Given the description of an element on the screen output the (x, y) to click on. 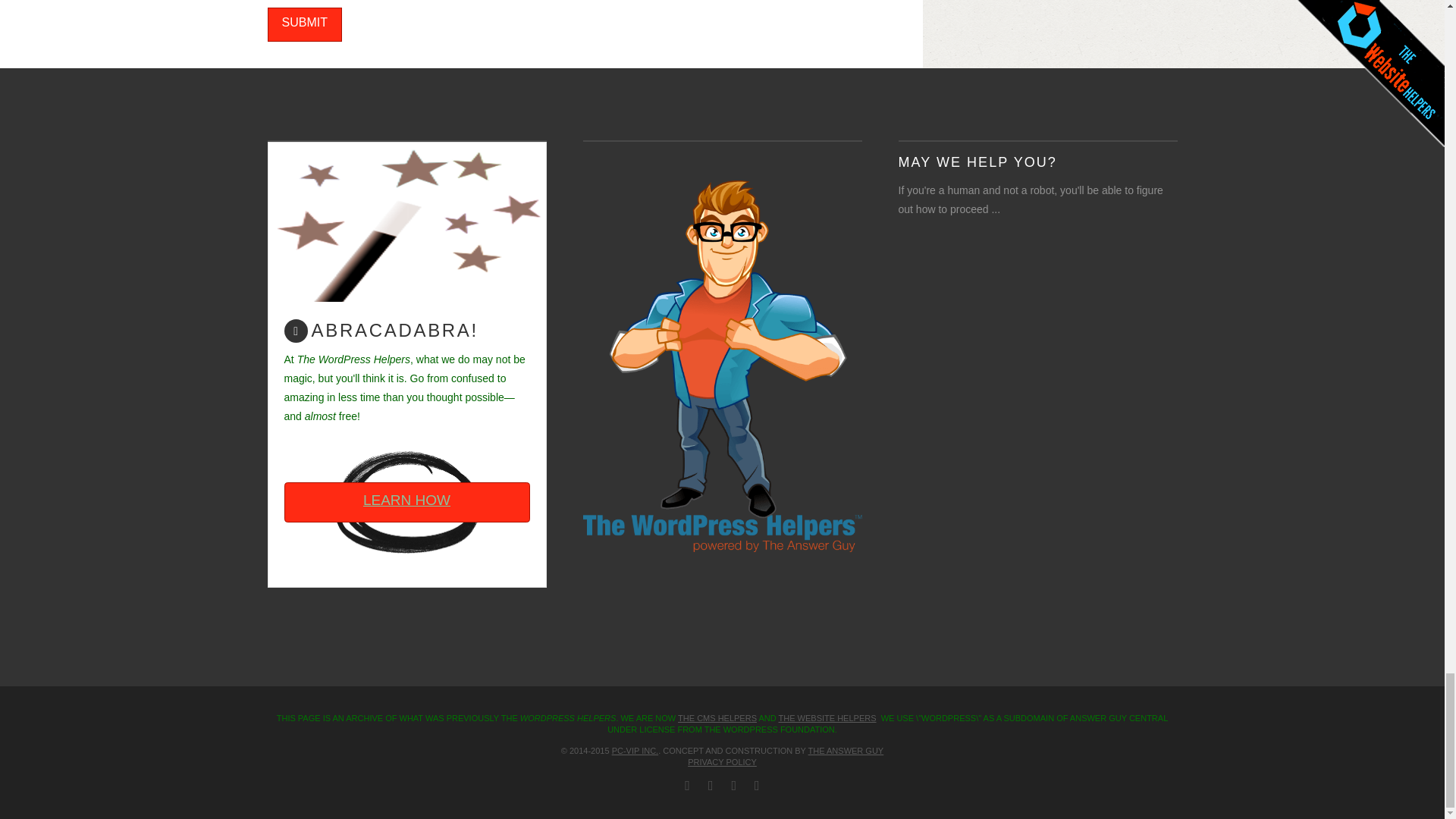
Submit (303, 24)
